Given the description of an element on the screen output the (x, y) to click on. 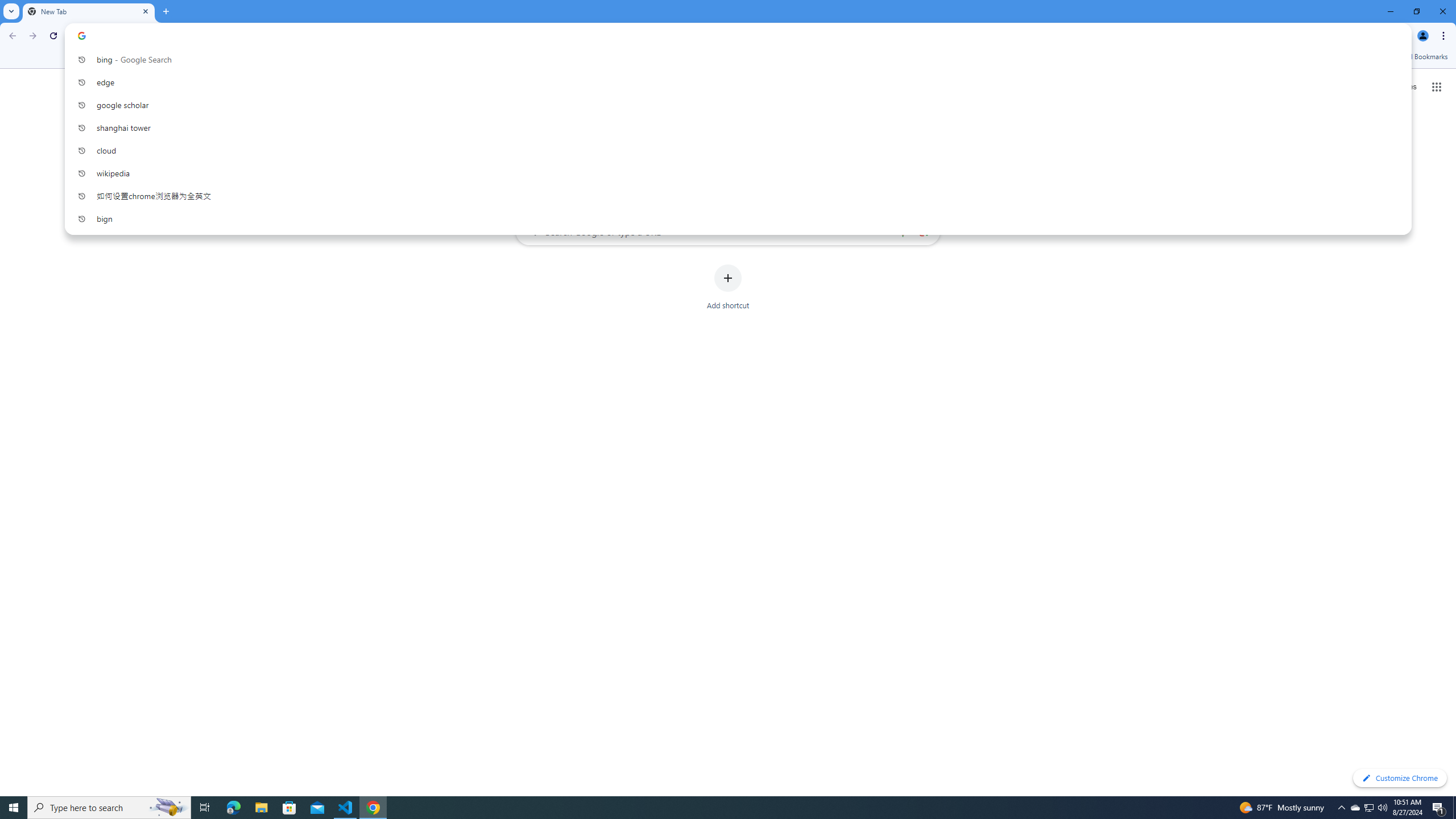
Search for Images  (1403, 87)
All Bookmarks (1418, 56)
Google apps (1436, 86)
